Given the description of an element on the screen output the (x, y) to click on. 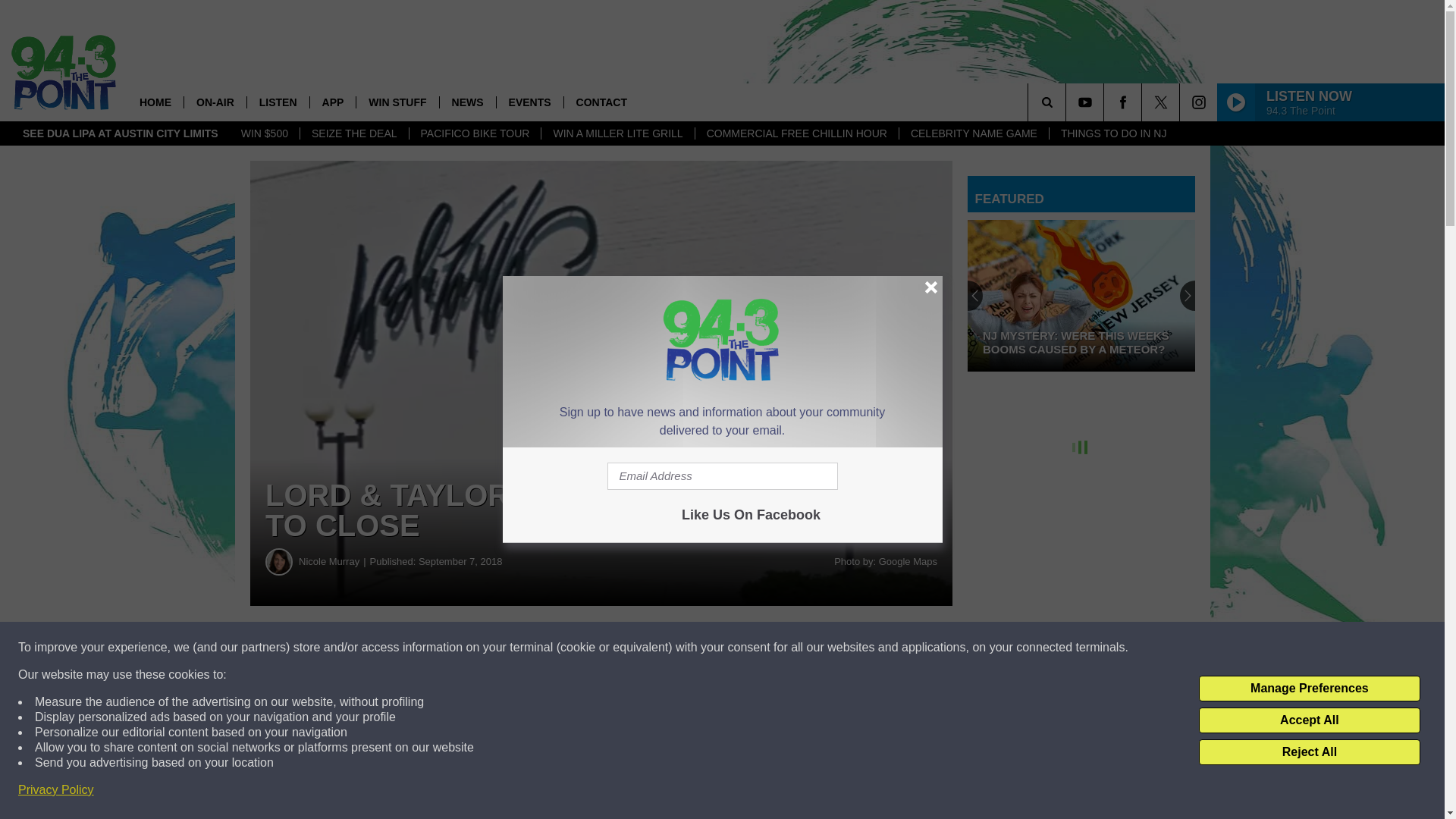
SEE DUA LIPA AT AUSTIN CITY LIMITS (120, 133)
Reject All (1309, 751)
Manage Preferences (1309, 688)
WIN A MILLER LITE GRILL (617, 133)
APP (332, 102)
Privacy Policy (55, 789)
THINGS TO DO IN NJ (1112, 133)
WIN STUFF (396, 102)
PACIFICO BIKE TOUR (475, 133)
Share on Facebook (460, 647)
Accept All (1309, 720)
Share on Twitter (741, 647)
SEARCH (1068, 102)
LISTEN (277, 102)
SEIZE THE DEAL (354, 133)
